Given the description of an element on the screen output the (x, y) to click on. 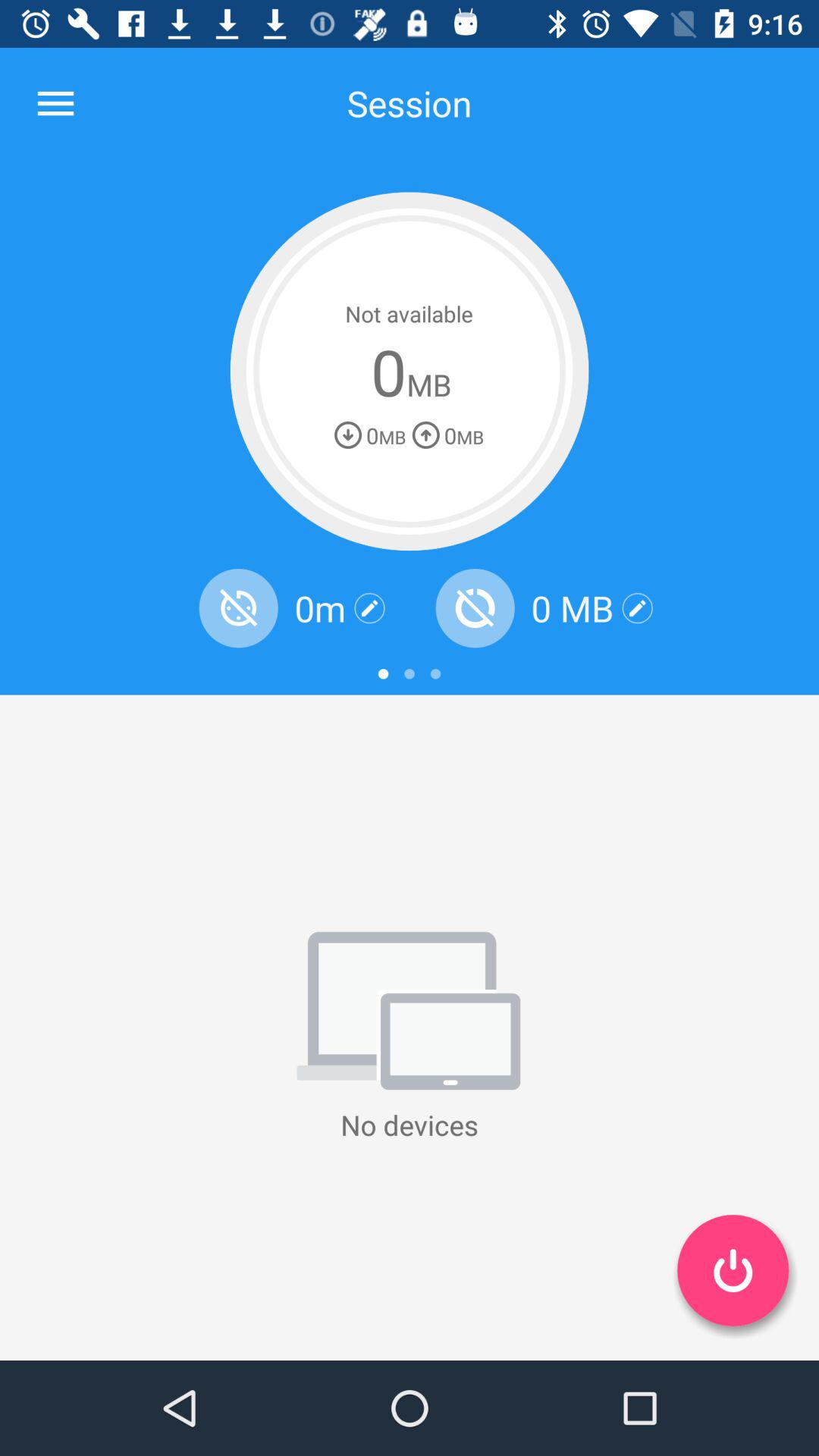
scroll until the 0 mb icon (572, 608)
